Given the description of an element on the screen output the (x, y) to click on. 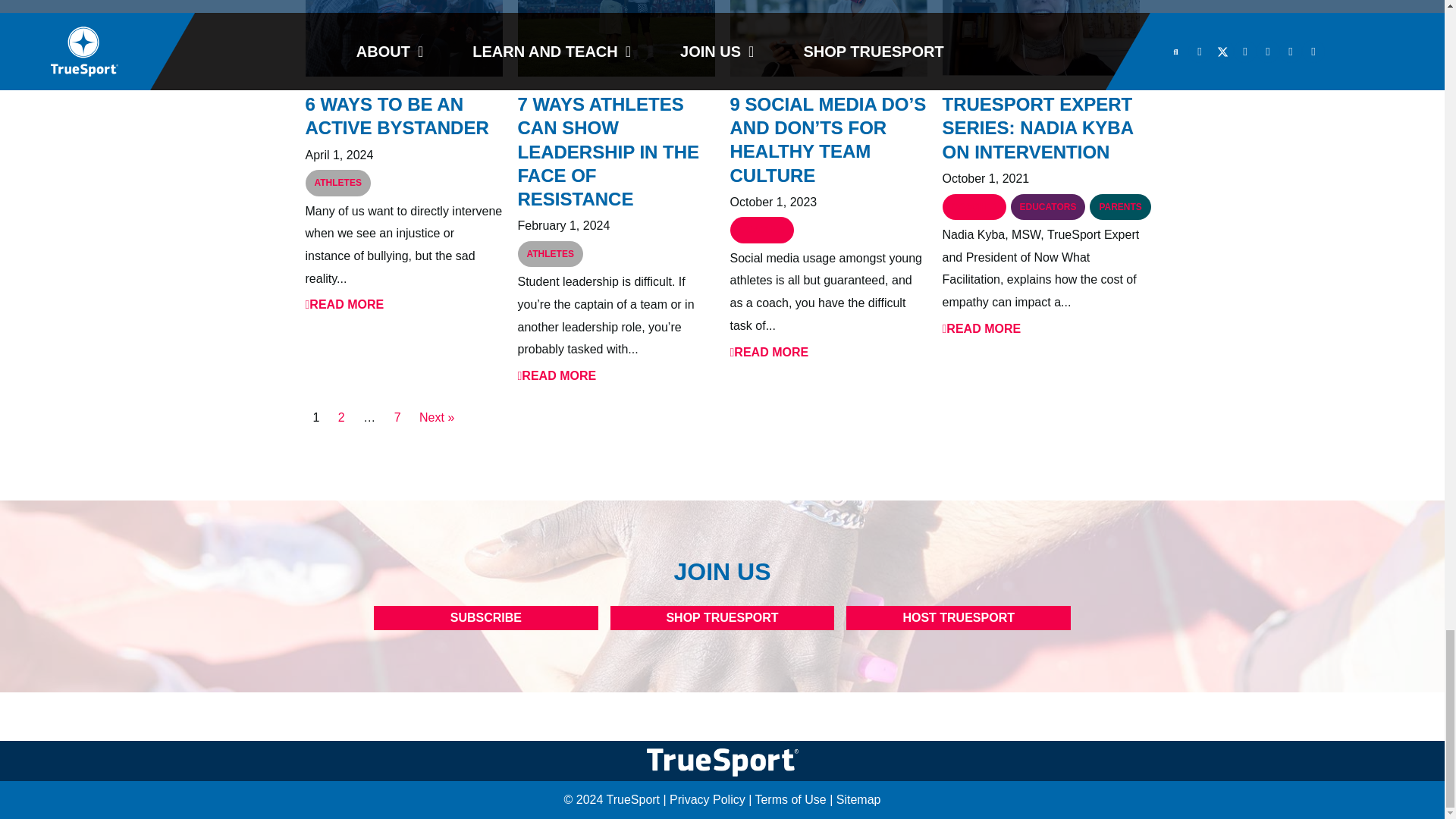
TrueSport logo without icon in white. (721, 762)
